Given the description of an element on the screen output the (x, y) to click on. 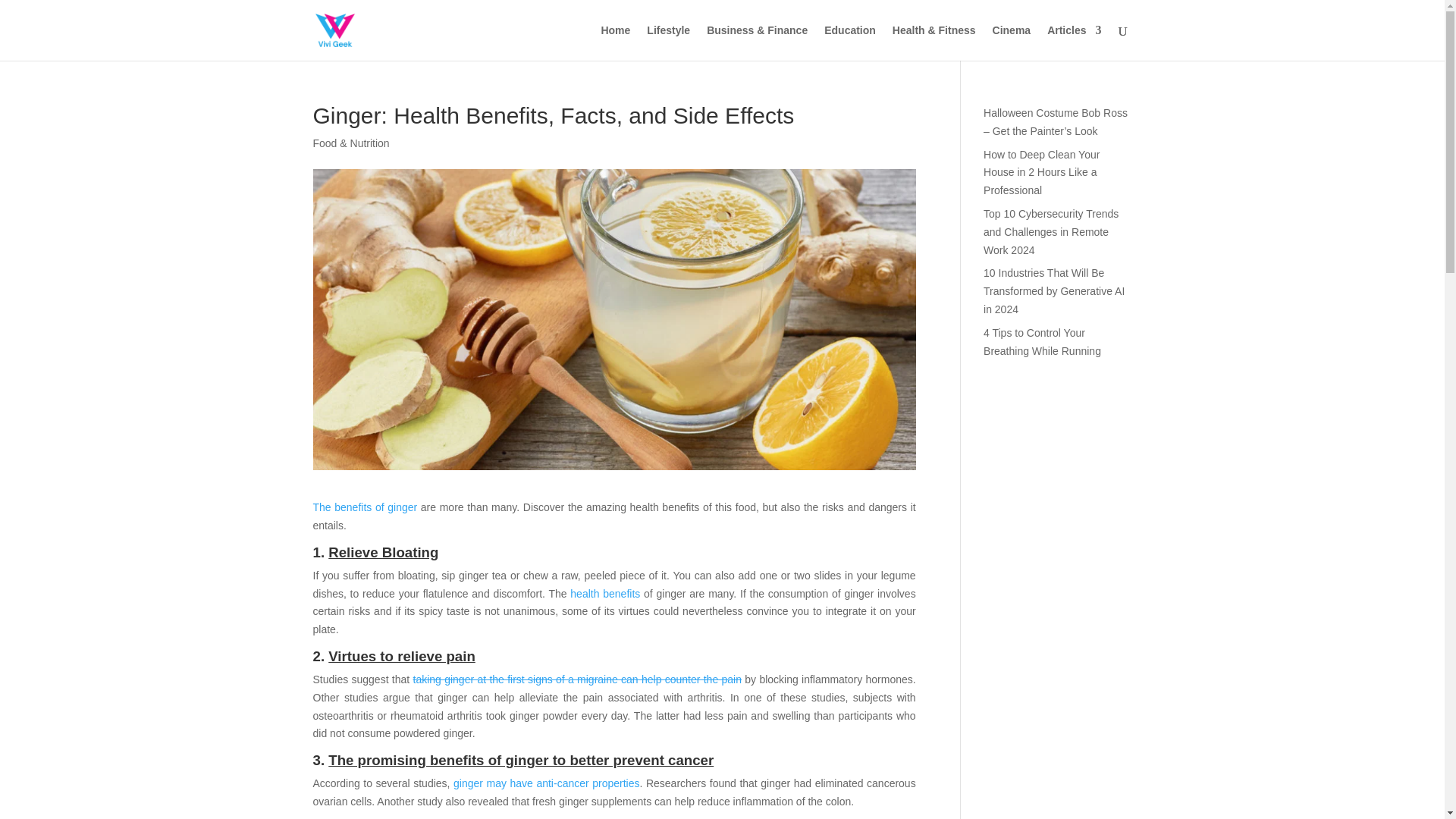
The benefits of ginger (364, 507)
Cinema (1011, 42)
Articles (1073, 42)
Lifestyle (668, 42)
ginger may have anti-cancer properties (545, 783)
How to Deep Clean Your House in 2 Hours Like a Professional (1041, 172)
health benefits (605, 593)
Education (850, 42)
4 Tips to Control Your Breathing While Running (1042, 341)
